Given the description of an element on the screen output the (x, y) to click on. 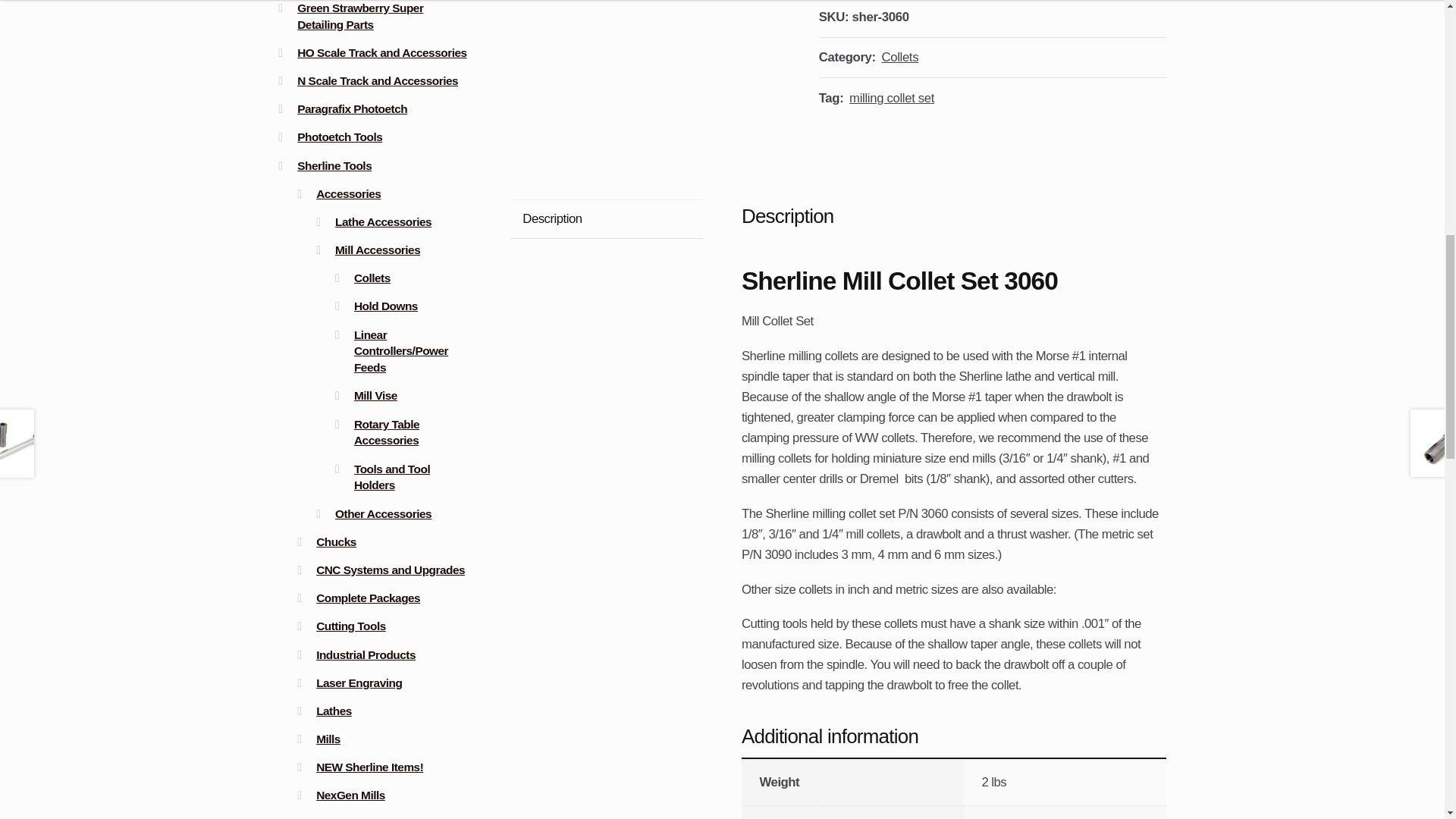
milling collet set (891, 97)
Collets (899, 56)
Description (607, 218)
